Given the description of an element on the screen output the (x, y) to click on. 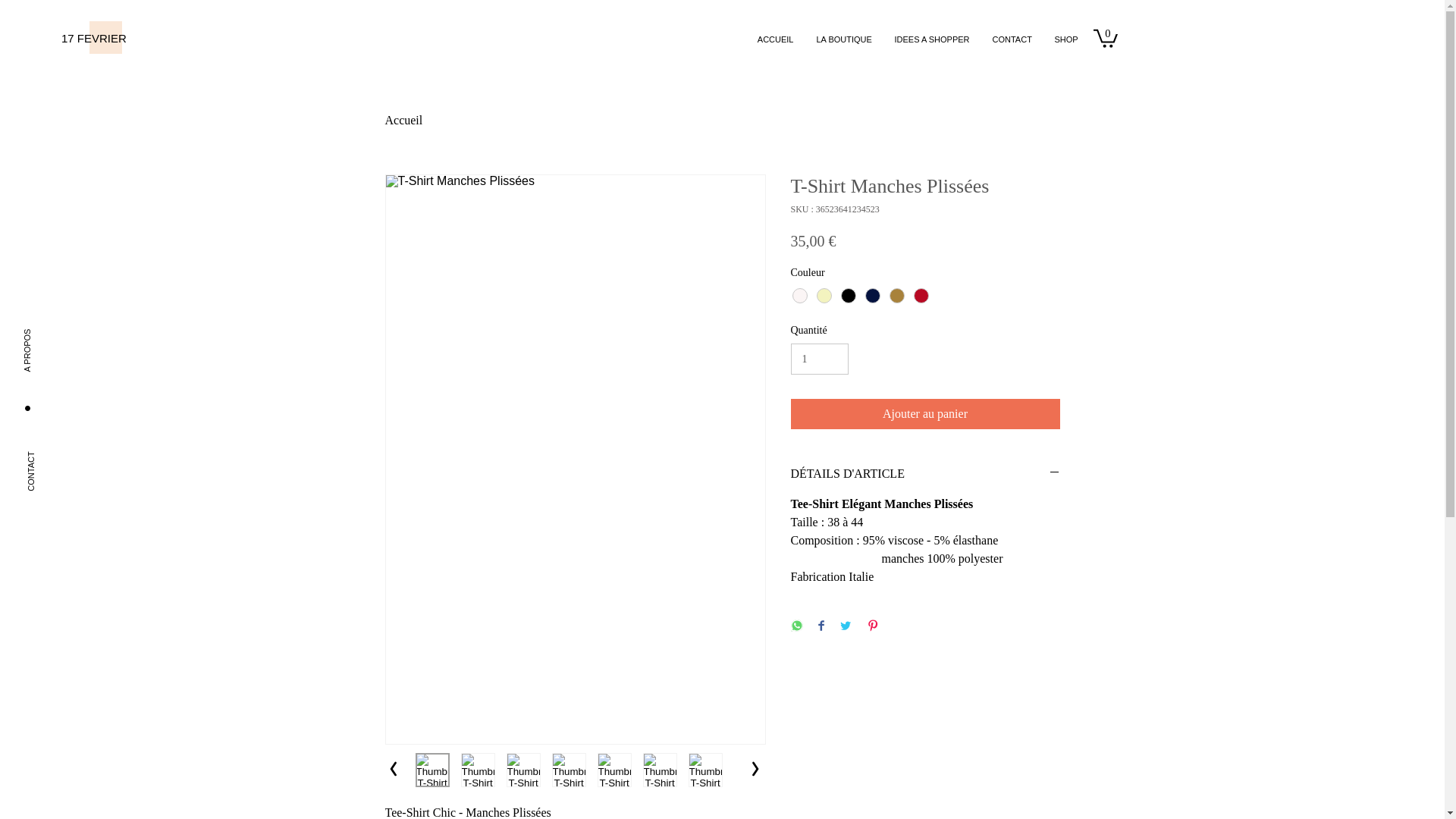
IDEES A SHOPPER Element type: text (931, 39)
A PROPOS Element type: text (60, 316)
CONTACT Element type: text (64, 436)
Accueil Element type: text (404, 119)
CONTACT Element type: text (1012, 39)
17 FEVRIER Element type: text (117, 38)
Ajouter au panier Element type: text (924, 413)
ACCUEIL Element type: text (775, 39)
SHOP Element type: text (1066, 39)
LA BOUTIQUE Element type: text (844, 39)
0 Element type: text (1105, 37)
